Given the description of an element on the screen output the (x, y) to click on. 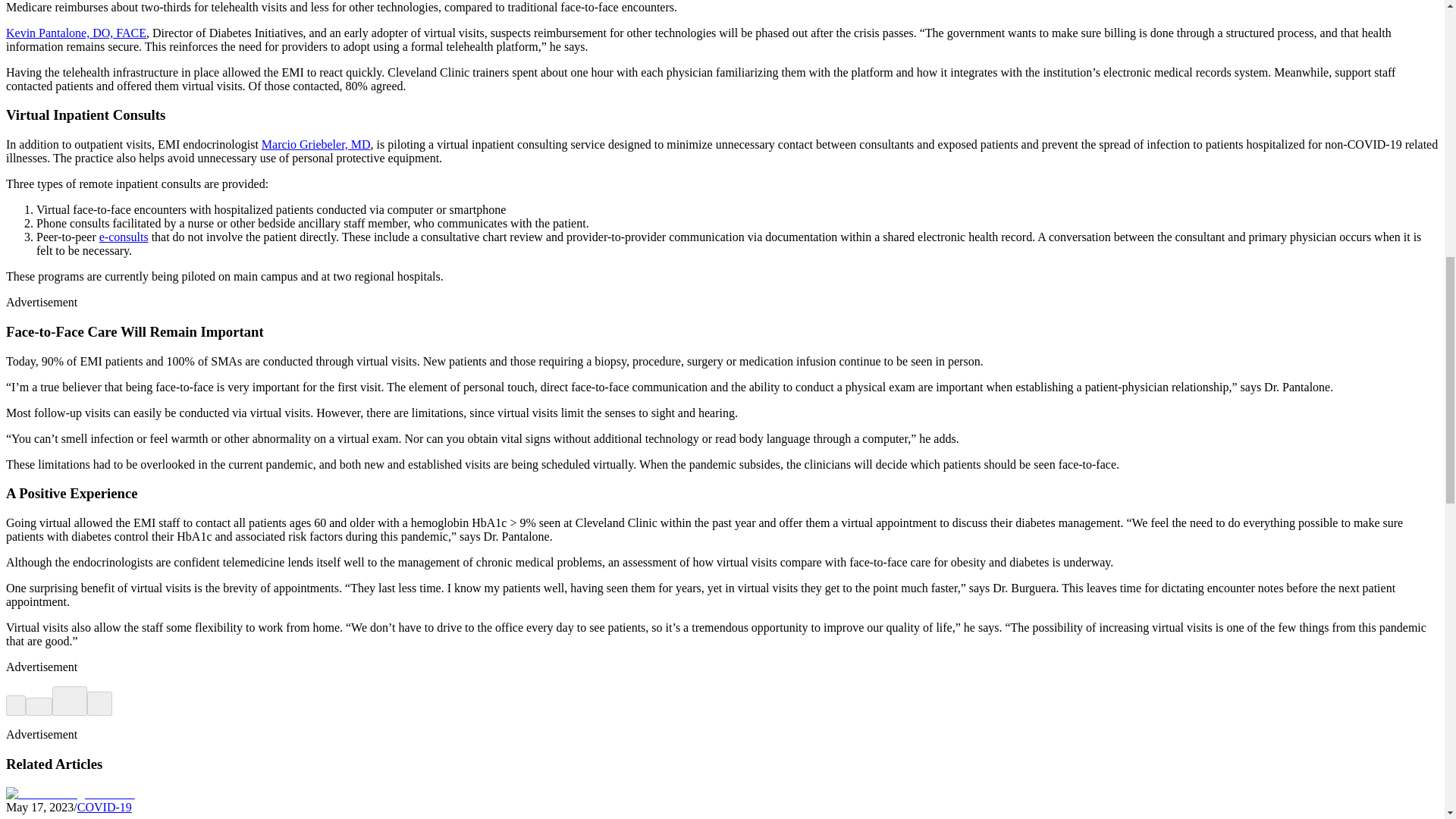
Marcio Griebeler, MD (316, 144)
Kevin Pantalone, DO, FACE (76, 32)
e-consults (123, 236)
COVID-19 (104, 807)
